Given the description of an element on the screen output the (x, y) to click on. 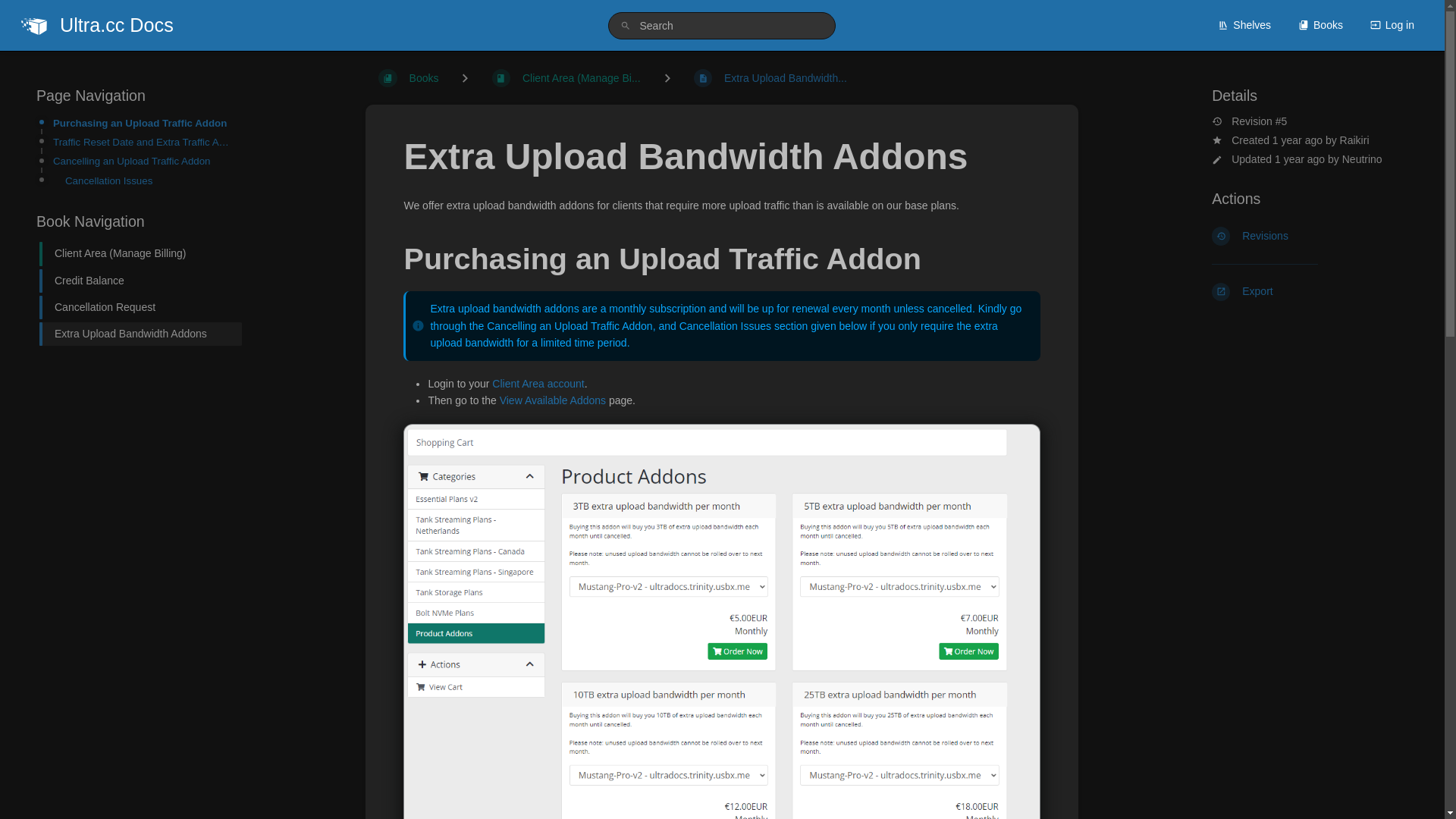
Mon, Apr 17, 2023 9:24 AM (1299, 159)
Traffic Reset Date and Extra Traffic Addons (142, 141)
Neutrino (1361, 159)
Revisions (1310, 235)
Extra Upload Bandwidth Addons (134, 334)
Credit Balance (134, 280)
Cancellation Issues (148, 180)
View Available Addons (552, 399)
Books (1320, 24)
Books (408, 77)
Purchasing an Upload Traffic Addon (142, 123)
Shelves (1243, 24)
Log in (1392, 24)
Cancelling an Upload Traffic Addon (142, 160)
Thu, Nov 24, 2022 1:35 PM (1297, 140)
